Given the description of an element on the screen output the (x, y) to click on. 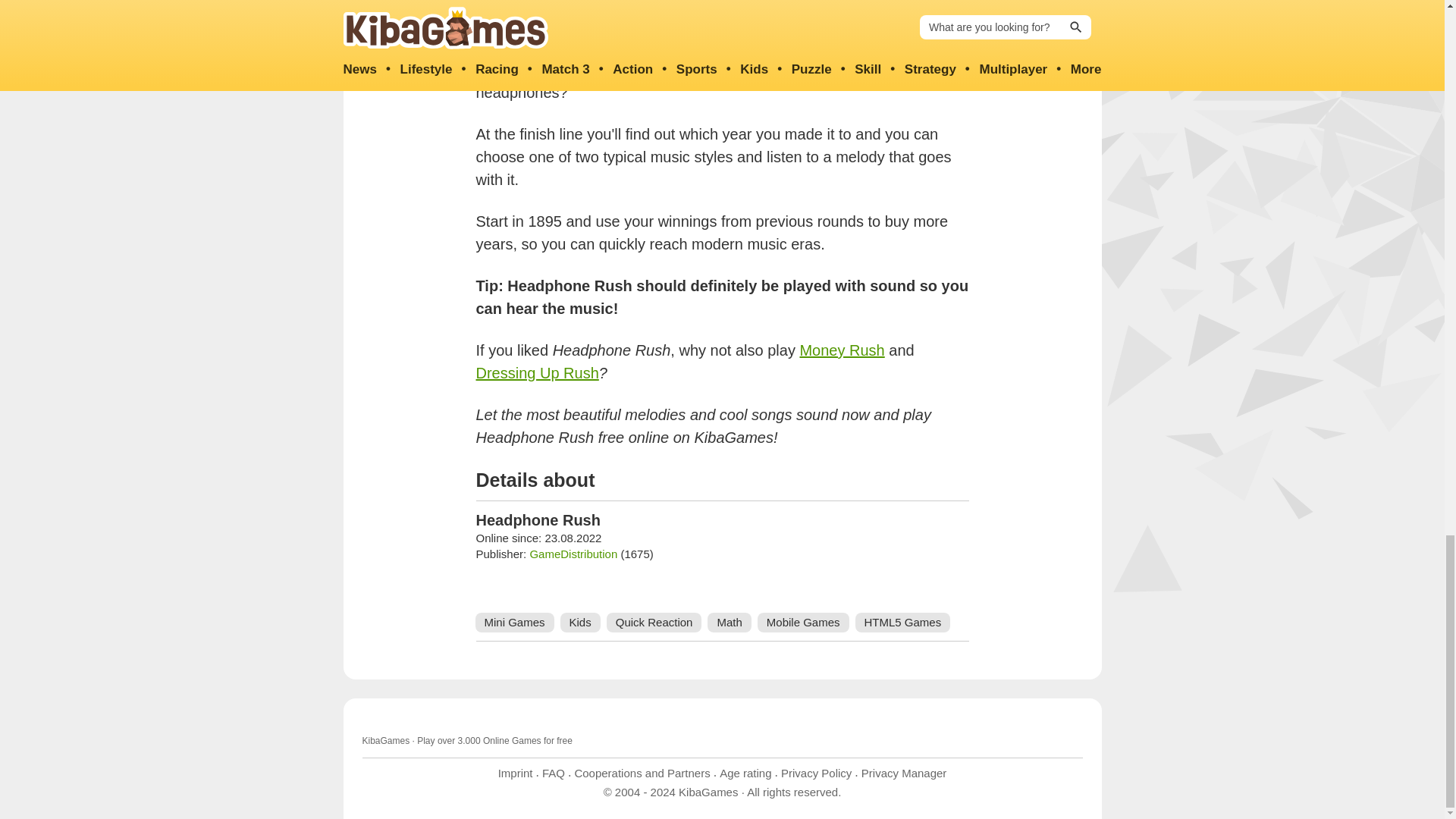
Dressing Up Rush (537, 372)
Money Rush (841, 350)
GameDistribution (573, 553)
